Given the description of an element on the screen output the (x, y) to click on. 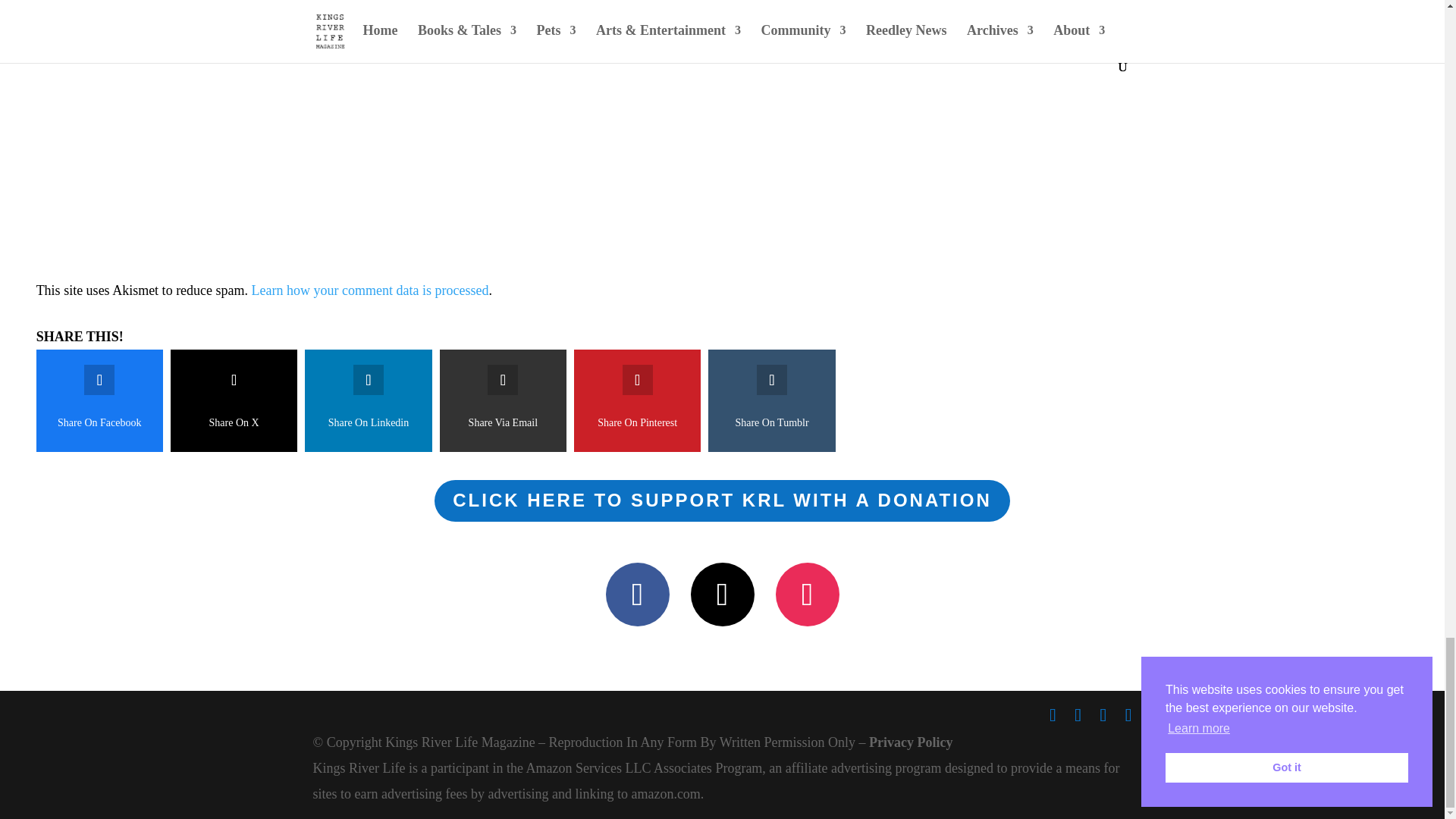
Follow on X (722, 594)
Follow on Instagram (806, 594)
Follow on Facebook (636, 594)
